Given the description of an element on the screen output the (x, y) to click on. 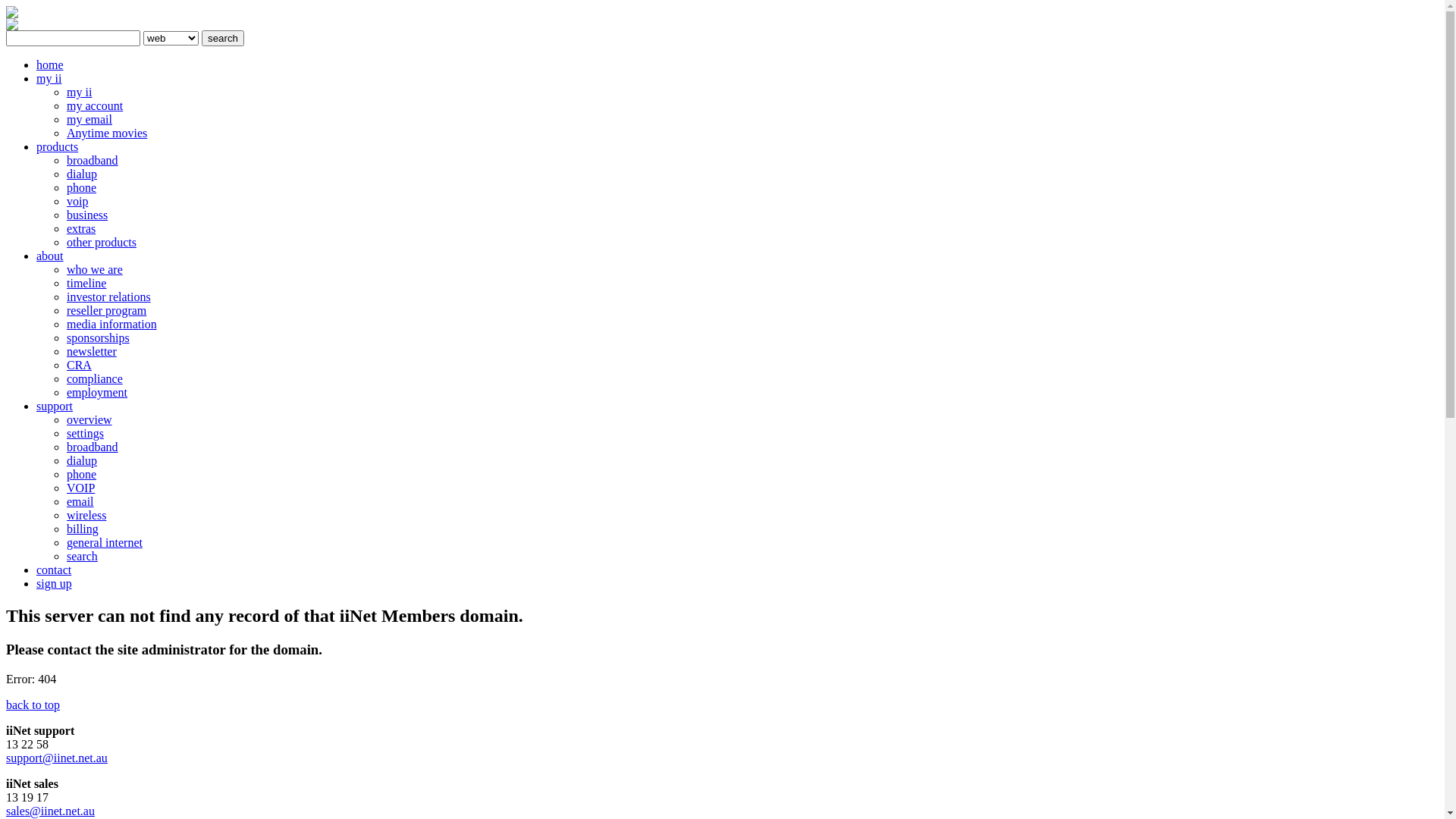
voip Element type: text (76, 200)
my ii Element type: text (48, 78)
phone Element type: text (81, 473)
billing Element type: text (82, 528)
extras Element type: text (80, 228)
settings Element type: text (84, 432)
business Element type: text (86, 214)
dialup Element type: text (81, 173)
support@iinet.net.au Element type: text (56, 757)
search Element type: text (222, 38)
search Element type: text (81, 555)
reseller program Element type: text (106, 310)
phone Element type: text (81, 187)
media information Element type: text (111, 323)
Anytime movies Element type: text (106, 132)
dialup Element type: text (81, 460)
employment Element type: text (96, 391)
sales@iinet.net.au Element type: text (50, 810)
my account Element type: text (94, 105)
my ii Element type: text (78, 91)
general internet Element type: text (104, 542)
investor relations Element type: text (108, 296)
home Element type: text (49, 64)
sponsorships Element type: text (97, 337)
broadband Element type: text (92, 446)
other products Element type: text (101, 241)
broadband Element type: text (92, 159)
back to top Element type: text (32, 704)
compliance Element type: text (94, 378)
overview Element type: text (89, 419)
wireless Element type: text (86, 514)
email Element type: text (80, 501)
timeline Element type: text (86, 282)
contact Element type: text (53, 569)
newsletter Element type: text (91, 351)
who we are Element type: text (94, 269)
sign up Element type: text (54, 583)
about Element type: text (49, 255)
VOIP Element type: text (80, 487)
products Element type: text (57, 146)
support Element type: text (54, 405)
my email Element type: text (89, 118)
CRA Element type: text (78, 364)
